Given the description of an element on the screen output the (x, y) to click on. 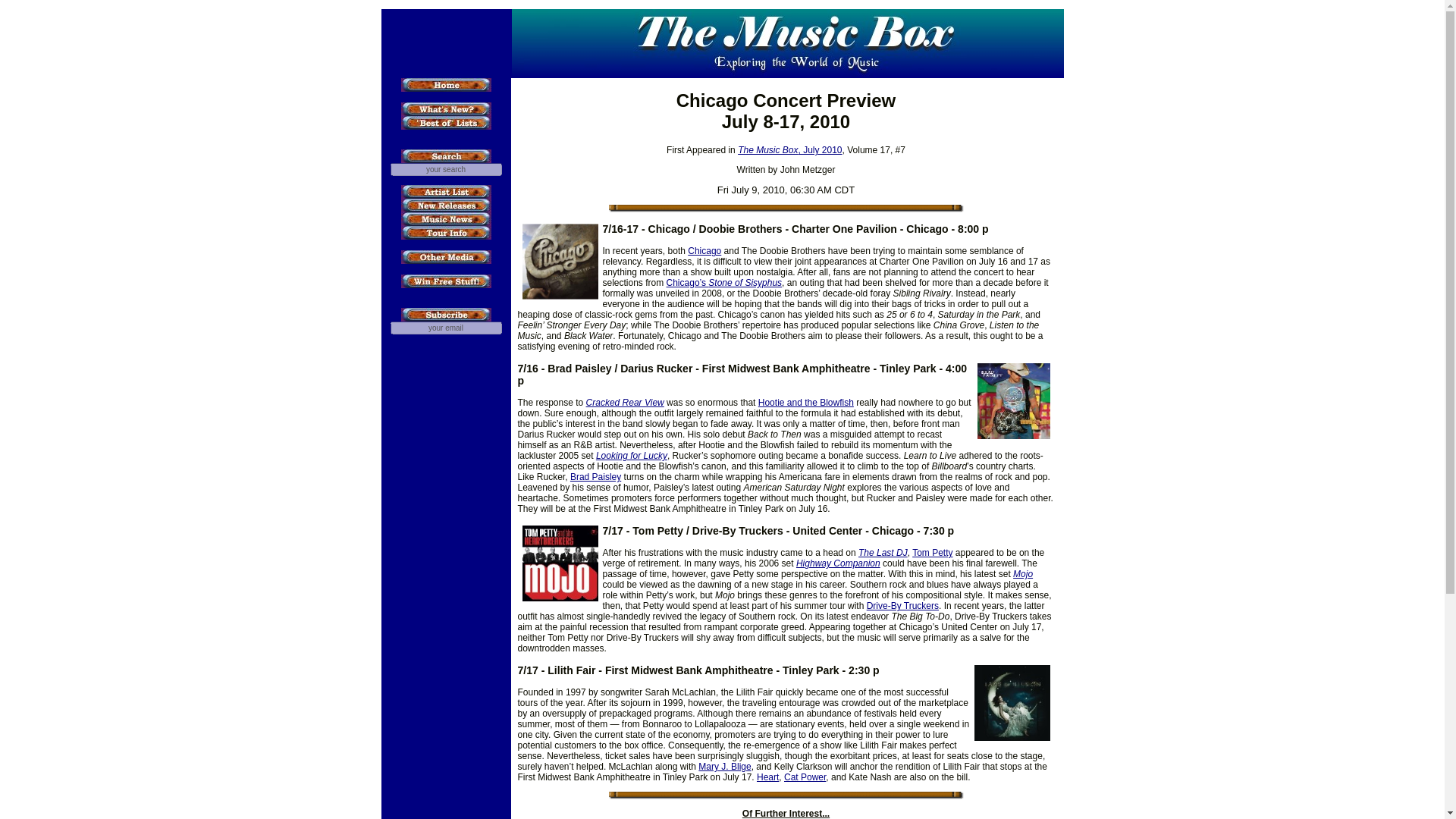
Cat Power (804, 777)
your email (445, 327)
Brad Paisley (595, 476)
Chicago (703, 250)
The Music Box, July 2010 (789, 149)
Drive-By Truckers (902, 605)
Cracked Rear View (624, 402)
Hootie and the Blowfish (805, 402)
The Last DJ (883, 552)
Mojo (1022, 573)
Mary J. Blige (724, 766)
Highway Companion (838, 562)
your search (445, 169)
Looking for Lucky (630, 455)
Heart (767, 777)
